Given the description of an element on the screen output the (x, y) to click on. 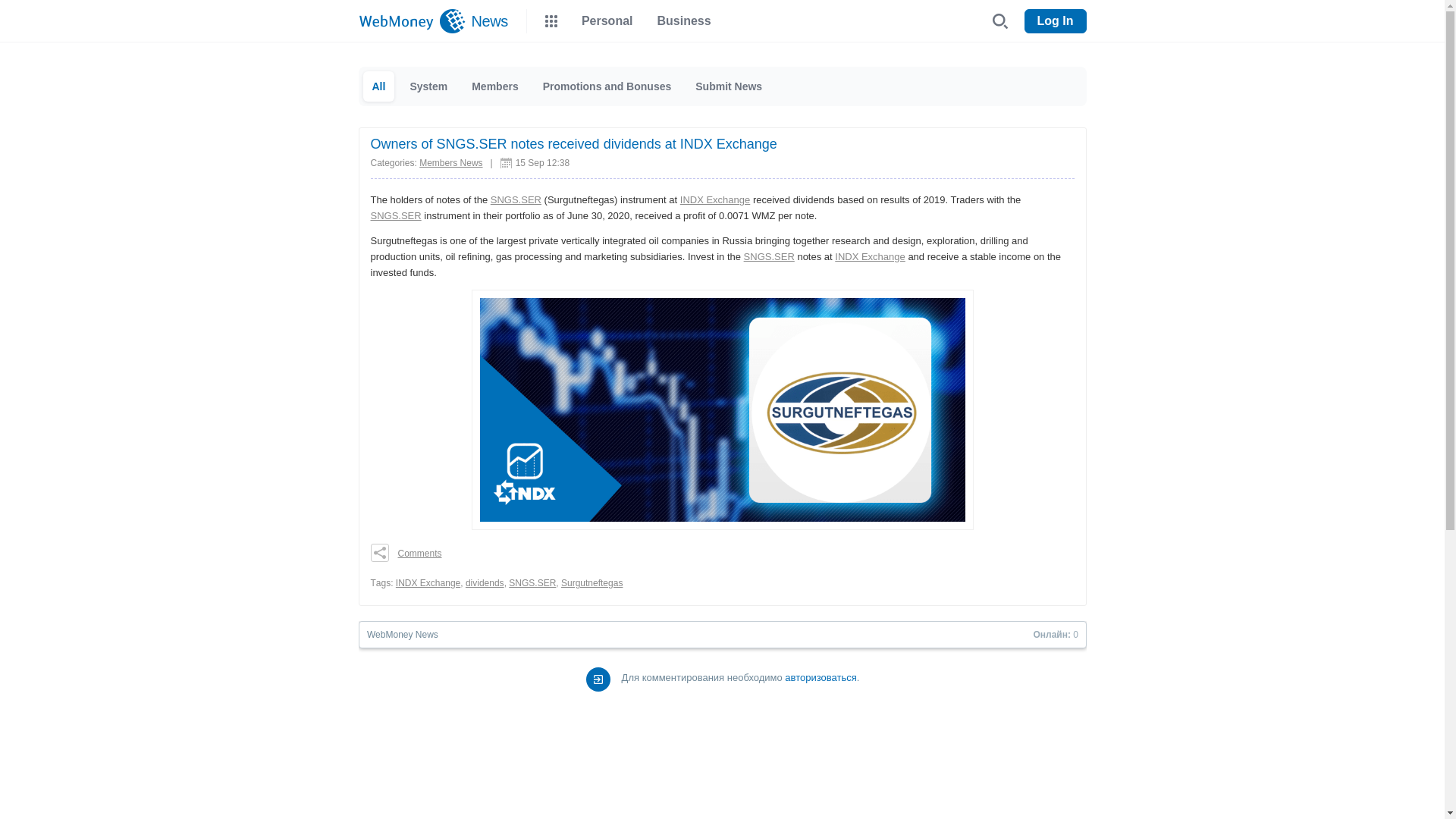
News (486, 21)
Log In (1055, 21)
